Given the description of an element on the screen output the (x, y) to click on. 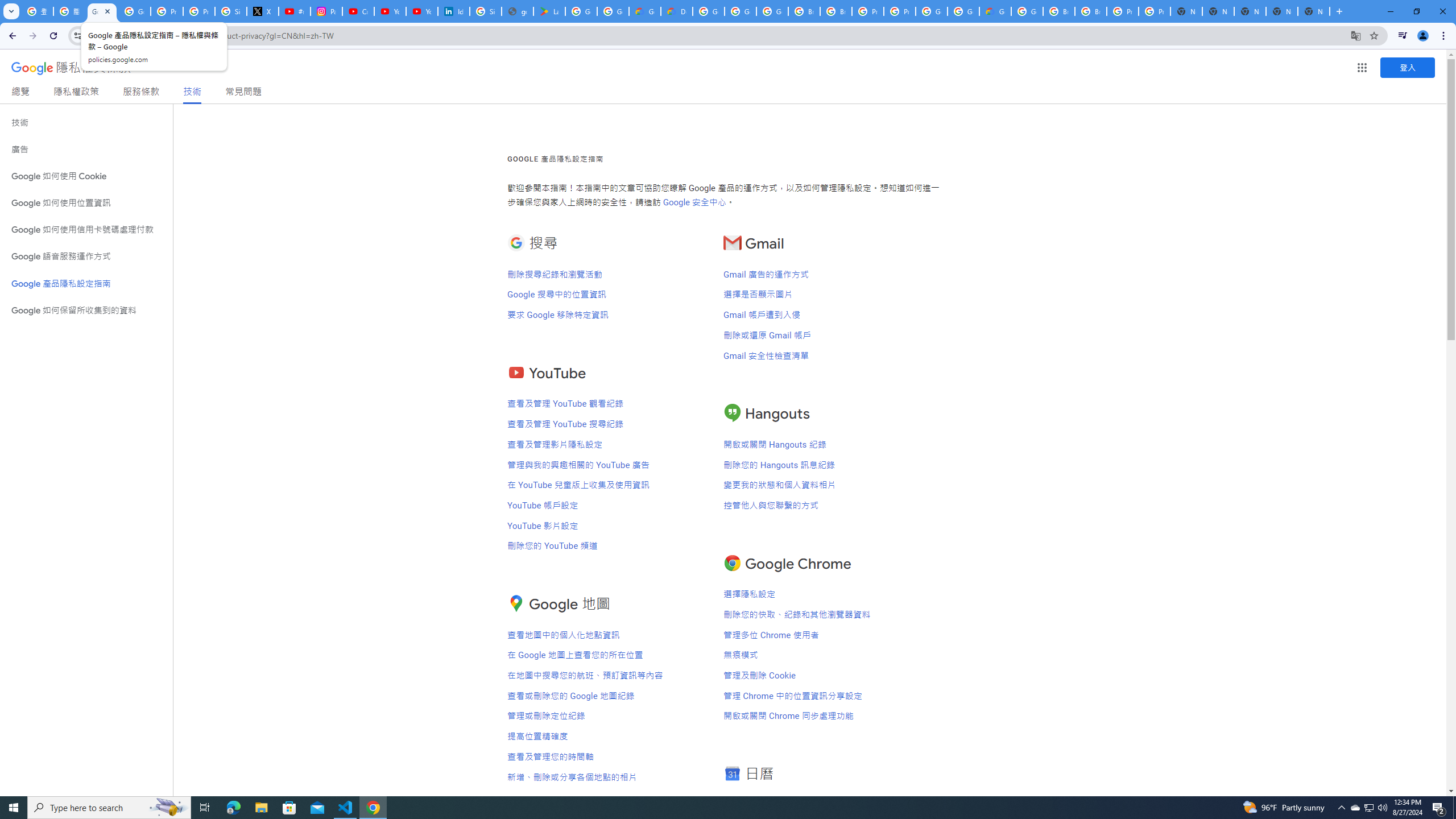
YouTube Culture & Trends - YouTube Top 10, 2021 (421, 11)
Sign in - Google Accounts (230, 11)
Privacy Help Center - Policies Help (198, 11)
